Given the description of an element on the screen output the (x, y) to click on. 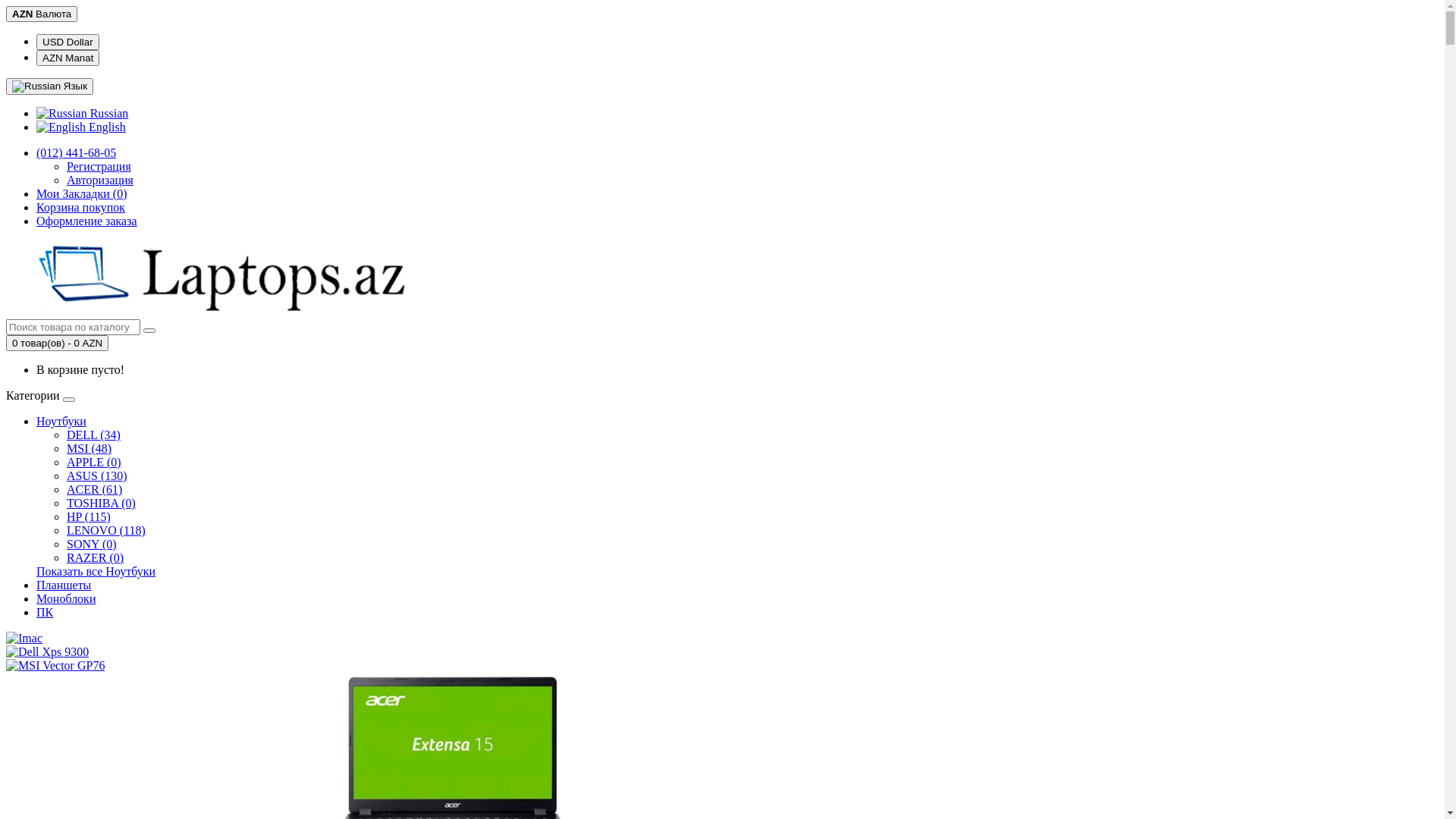
English Element type: hover (60, 127)
Laptops.az Element type: hover (252, 278)
Russian Element type: hover (61, 113)
Russian Element type: text (82, 112)
English Element type: text (80, 126)
DELL (34) Element type: text (93, 434)
LENOVO (118) Element type: text (105, 530)
HP (115) Element type: text (88, 516)
TOSHIBA (0) Element type: text (100, 502)
MSI (48) Element type: text (88, 448)
Russian Element type: hover (36, 86)
APPLE (0) Element type: text (93, 461)
ACER (61) Element type: text (94, 489)
AZN Manat Element type: text (67, 57)
USD Dollar Element type: text (67, 42)
ASUS (130) Element type: text (96, 475)
SONY (0) Element type: text (91, 543)
RAZER (0) Element type: text (94, 557)
(012) 441-68-05 Element type: text (76, 152)
